Given the description of an element on the screen output the (x, y) to click on. 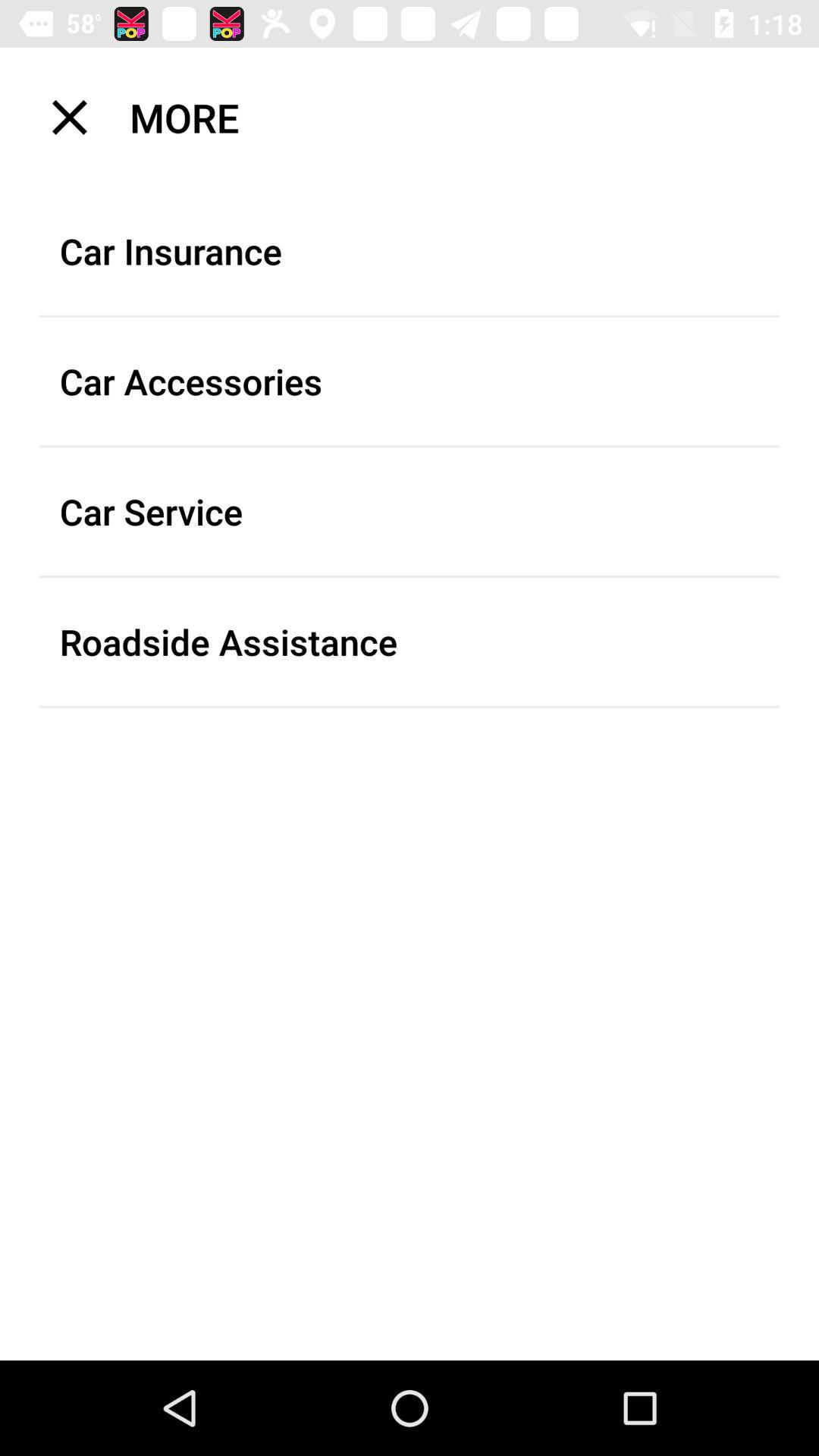
choose the car insurance item (409, 251)
